Given the description of an element on the screen output the (x, y) to click on. 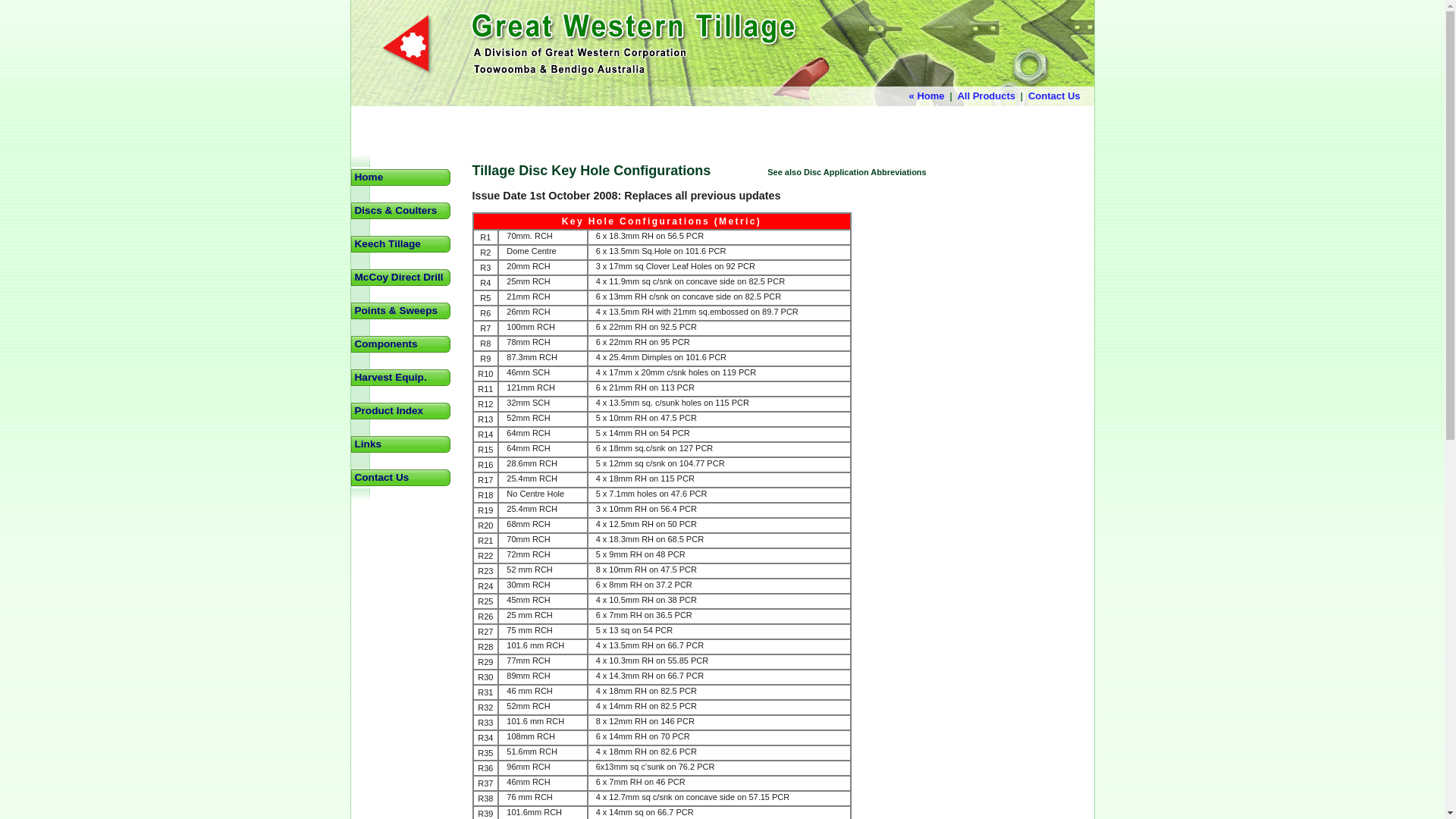
Disc Application Abbreviations Element type: text (864, 171)
Components Element type: text (401, 344)
Home Element type: text (401, 177)
Discs & Coulters Element type: text (401, 210)
Keech Tillage Element type: text (401, 244)
Contact Us Element type: text (1054, 95)
Harvest Equip. Element type: text (401, 377)
McCoy Direct Drill Element type: text (401, 277)
Product Index Element type: text (401, 410)
All Products Element type: text (986, 95)
Return to Entry (Home) Page Element type: hover (721, 102)
Links Element type: text (401, 444)
Points & Sweeps Element type: text (401, 310)
Contact Us Element type: text (401, 477)
